Given the description of an element on the screen output the (x, y) to click on. 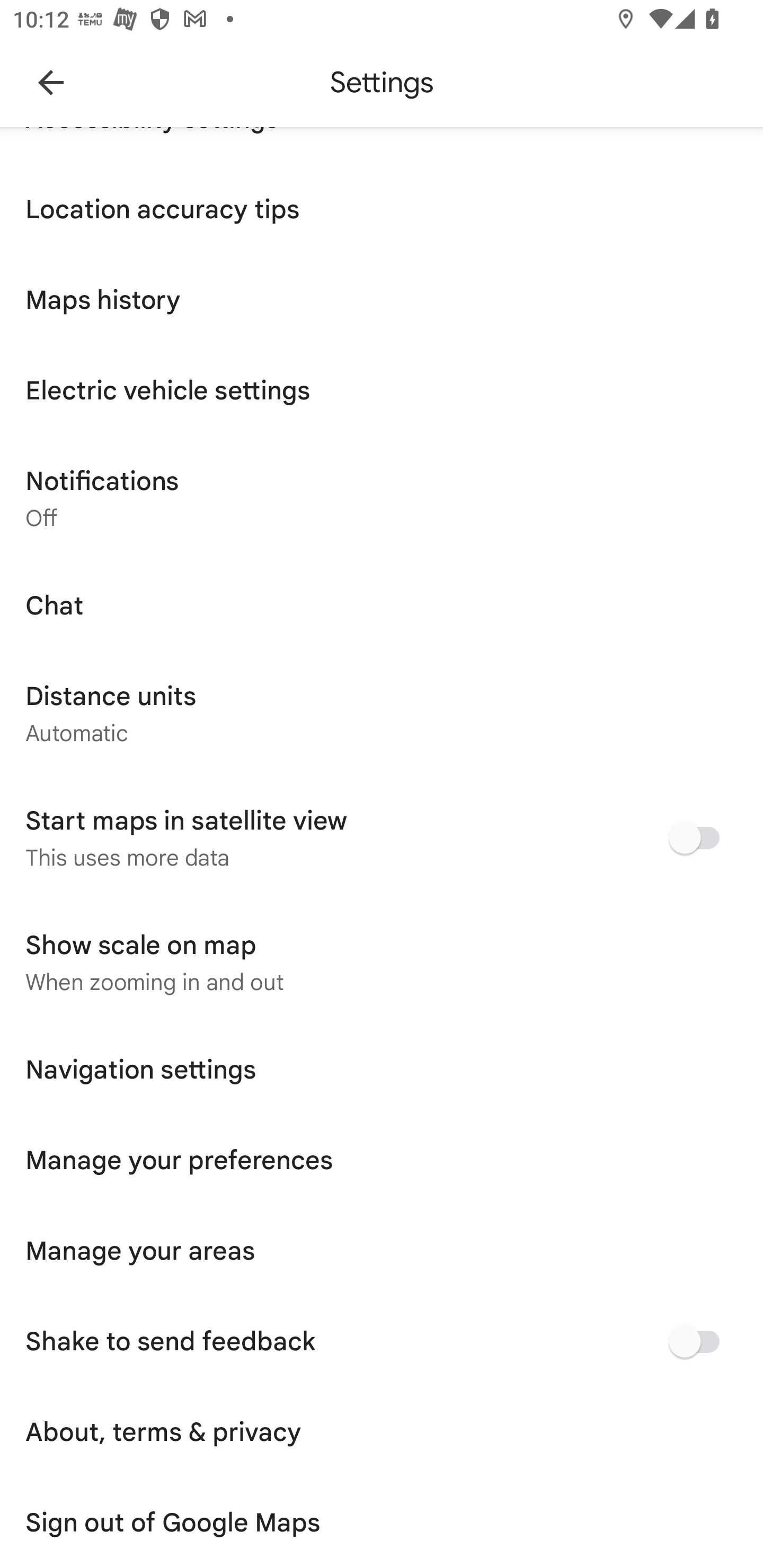
Navigate up (50, 81)
Location accuracy tips (381, 209)
Maps history (381, 299)
Electric vehicle settings (381, 389)
Notifications Off (381, 497)
Chat (381, 604)
Distance units Automatic (381, 713)
Start maps in satellite view This uses more data (381, 838)
Show scale on map When zooming in and out (381, 961)
Navigation settings (381, 1068)
Manage your preferences (381, 1159)
Manage your areas (381, 1250)
Shake to send feedback (381, 1341)
About, terms & privacy (381, 1431)
Sign out of Google Maps (381, 1522)
